Given the description of an element on the screen output the (x, y) to click on. 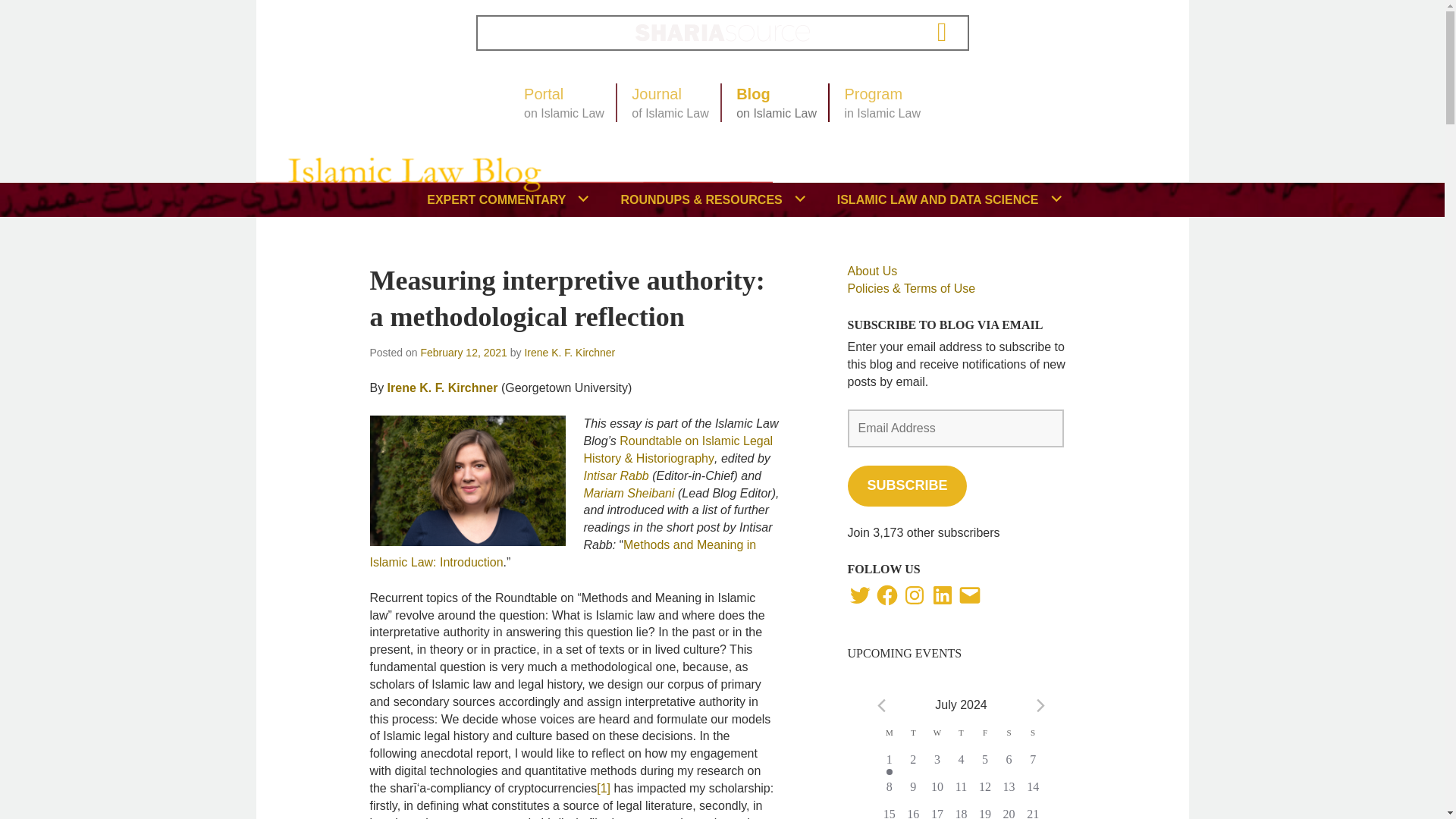
ISLAMIC LAW AND DATA SCIENCE (946, 199)
Has events (776, 103)
ISLAMIC LAW BLOG (882, 103)
Irene K. F. Kirchner (889, 771)
Search (387, 227)
February 12, 2021 (569, 352)
Intisar Rabb (564, 103)
Irene K. F. Kirchner (944, 31)
Posts by Irene K. F. Kirchner (463, 352)
Mariam Sheibani (617, 475)
Methods and Meaning in Islamic Law: Introduction (669, 103)
